Given the description of an element on the screen output the (x, y) to click on. 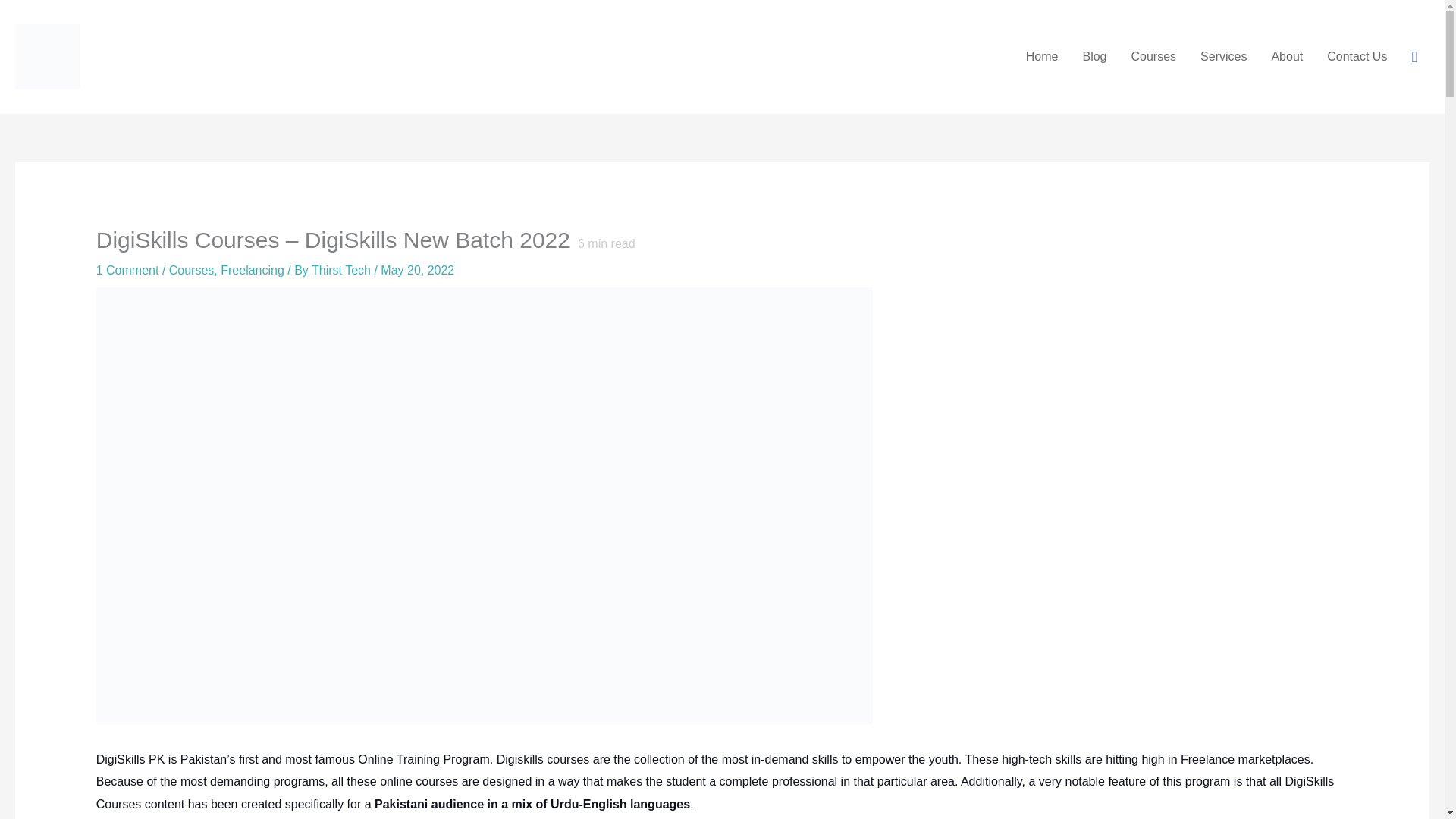
Thirst Tech (342, 269)
View all posts by Thirst Tech (342, 269)
Contact Us (1356, 56)
Courses (191, 269)
Blog (1094, 56)
1 Comment (127, 269)
Services (1223, 56)
Courses (1154, 56)
Home (1041, 56)
About (1286, 56)
Freelancing (252, 269)
